Given the description of an element on the screen output the (x, y) to click on. 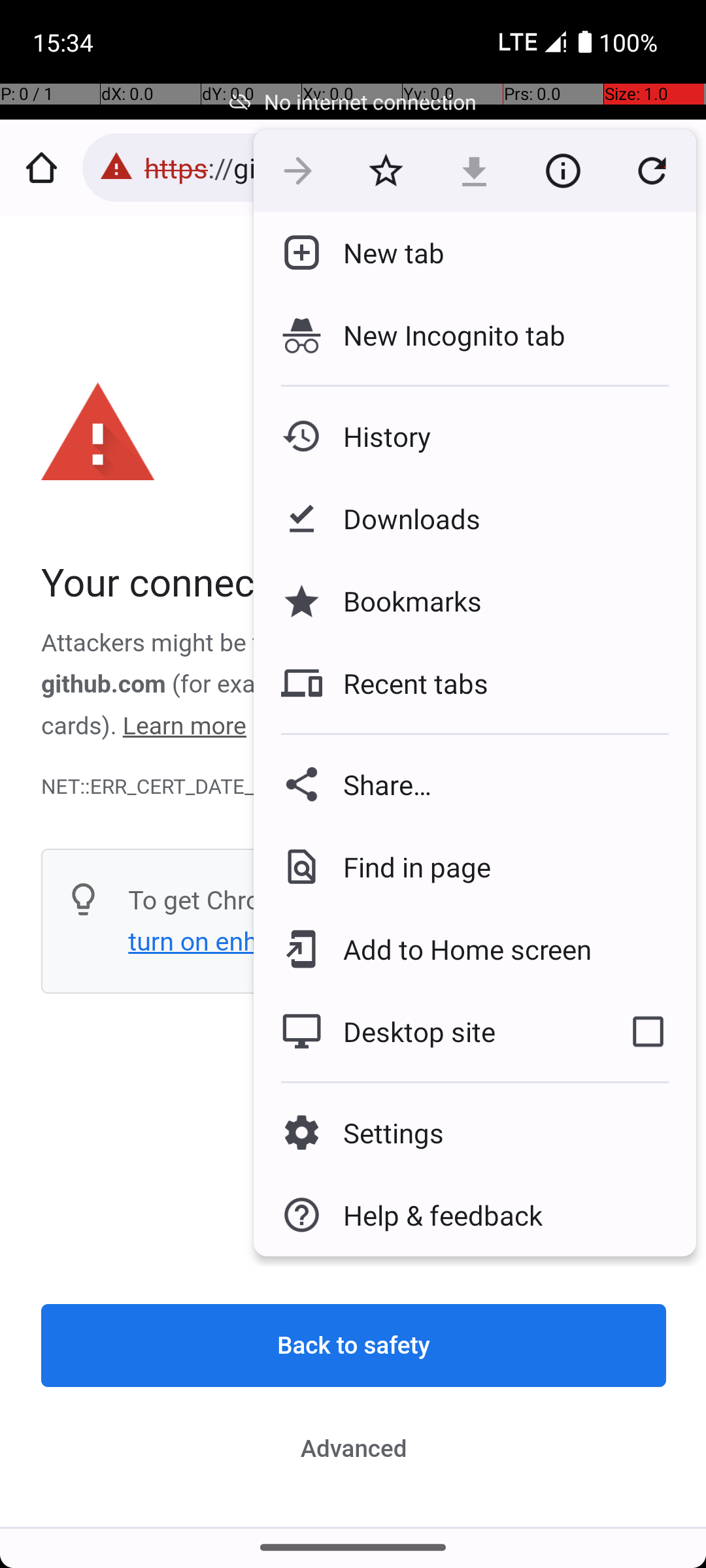
Forward Element type: android.widget.ImageButton (297, 170)
Bookmark Element type: android.widget.ImageButton (385, 170)
Page info Element type: android.widget.ImageButton (562, 170)
Refresh Element type: android.widget.ImageButton (651, 170)
New Incognito tab Element type: android.widget.TextView (474, 335)
Bookmarks Element type: android.widget.TextView (401, 600)
Recent tabs Element type: android.widget.TextView (405, 683)
Share… Element type: android.widget.TextView (474, 784)
Find in page Element type: android.widget.TextView (406, 866)
Add to Home screen Element type: android.widget.TextView (457, 949)
Desktop site Element type: android.widget.TextView (426, 1031)
